Given the description of an element on the screen output the (x, y) to click on. 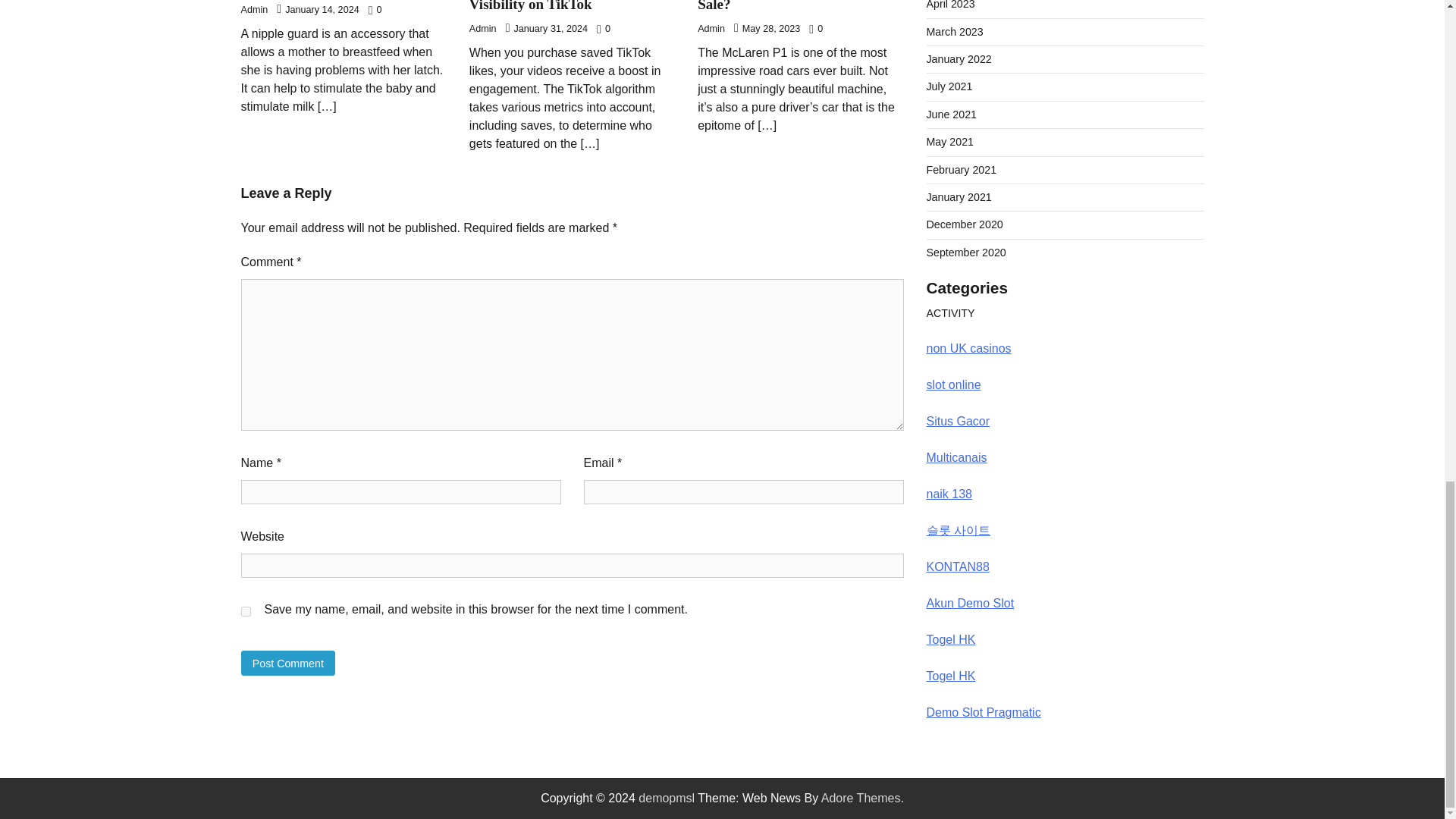
Why Buy a McLaren P1 For Sale? (785, 6)
Buy Saves Tiktok to Boost Your Visibility on TikTok (565, 6)
Admin (711, 28)
Admin (254, 9)
yes (245, 611)
Post Comment (288, 662)
Admin (482, 28)
Post Comment (288, 662)
